Given the description of an element on the screen output the (x, y) to click on. 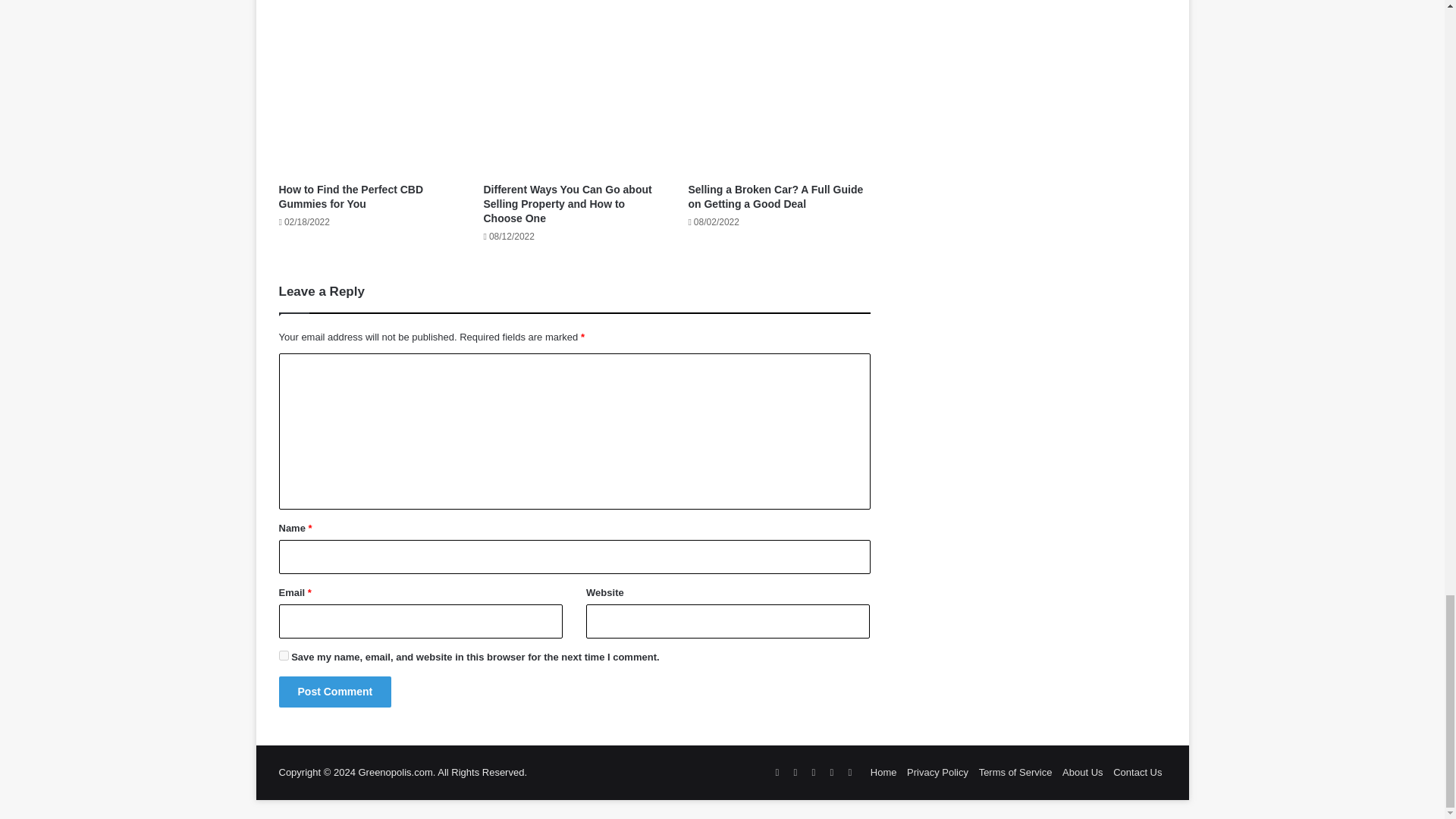
yes (283, 655)
Post Comment (335, 691)
